Given the description of an element on the screen output the (x, y) to click on. 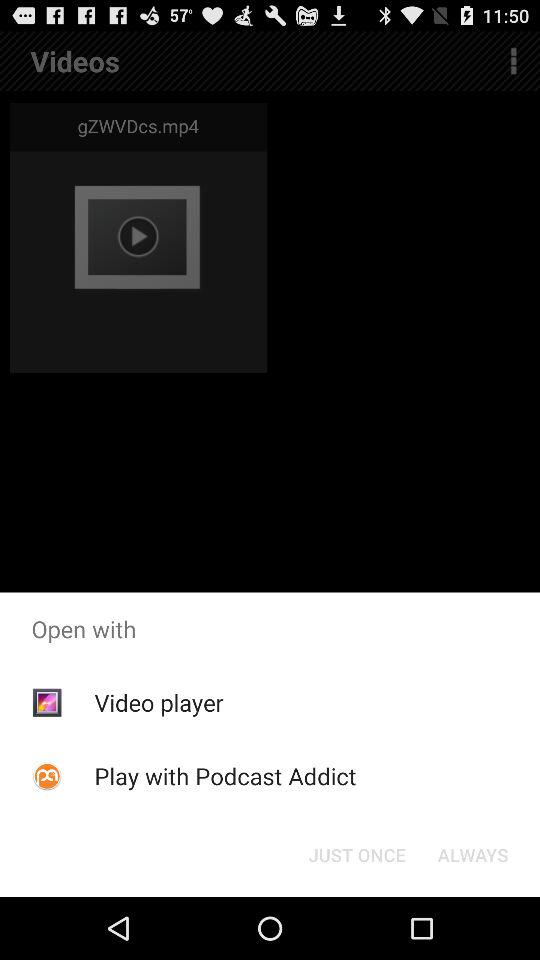
turn on icon below the play with podcast item (356, 854)
